Given the description of an element on the screen output the (x, y) to click on. 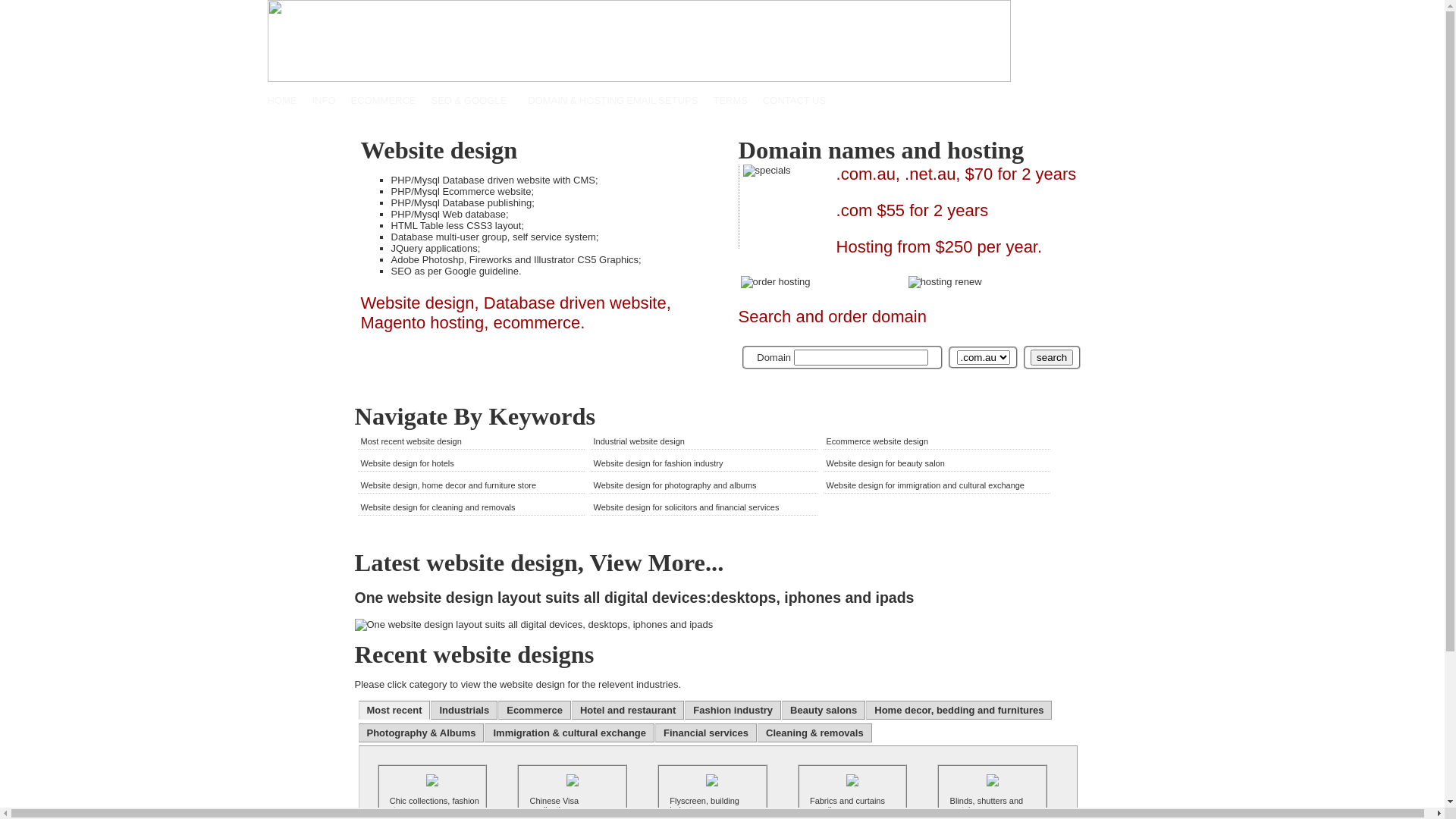
Chinese Visa application Element type: text (554, 805)
DOMAIN & HOSTING Element type: text (575, 100)
Fabrics and curtains supplies Element type: text (846, 805)
Website design for immigration and cultural exchange Element type: text (925, 484)
Website design for cleaning and removals Element type: text (437, 506)
Flyscreen, building industry Element type: text (704, 805)
Website design for hotels Element type: text (407, 462)
EMAIL SETUPS Element type: text (661, 100)
SEO & GOOGLE Element type: text (469, 100)
Most recent website design Element type: text (410, 440)
Industrial website design Element type: text (638, 440)
Blinds, shutters and curtains Element type: text (986, 805)
View More... Element type: text (656, 562)
INFO Element type: text (323, 100)
Ecommerce website design Element type: text (877, 440)
Website design for fashion industry Element type: text (657, 462)
Website design, home decor and furniture store Element type: text (448, 484)
HOME Element type: text (281, 100)
ECOMMERCE Element type: text (383, 100)
search Element type: text (1051, 357)
Website design for photography and albums Element type: text (674, 484)
TERMS Element type: text (729, 100)
Website design for solicitors and financial services Element type: text (685, 506)
Chic collections, fashion store Element type: text (434, 805)
Website design for beauty salon Element type: text (885, 462)
CONTACT US Element type: text (793, 100)
